Given the description of an element on the screen output the (x, y) to click on. 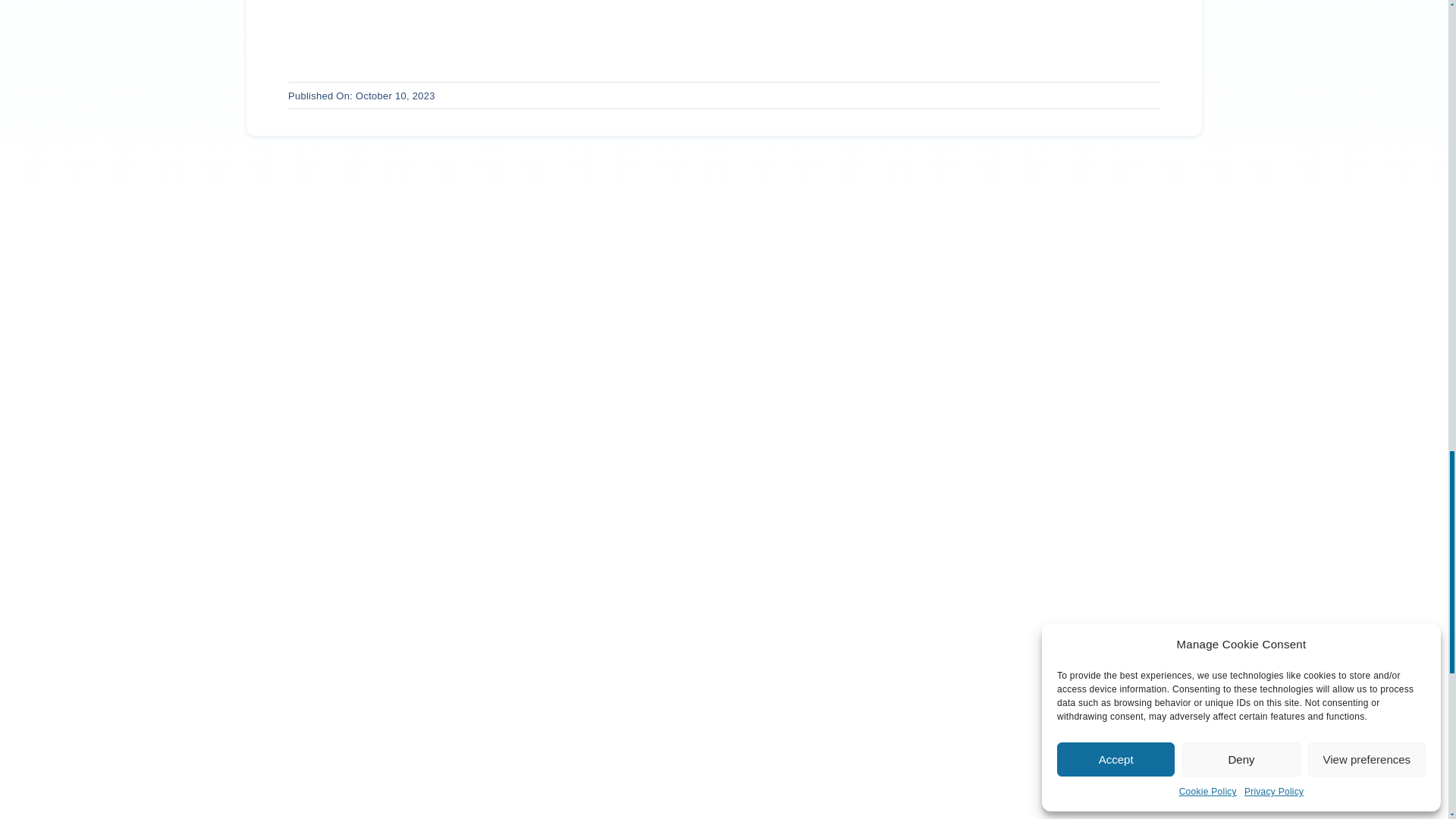
Quantifying-aquifer-heterogeneity (723, 10)
